Given the description of an element on the screen output the (x, y) to click on. 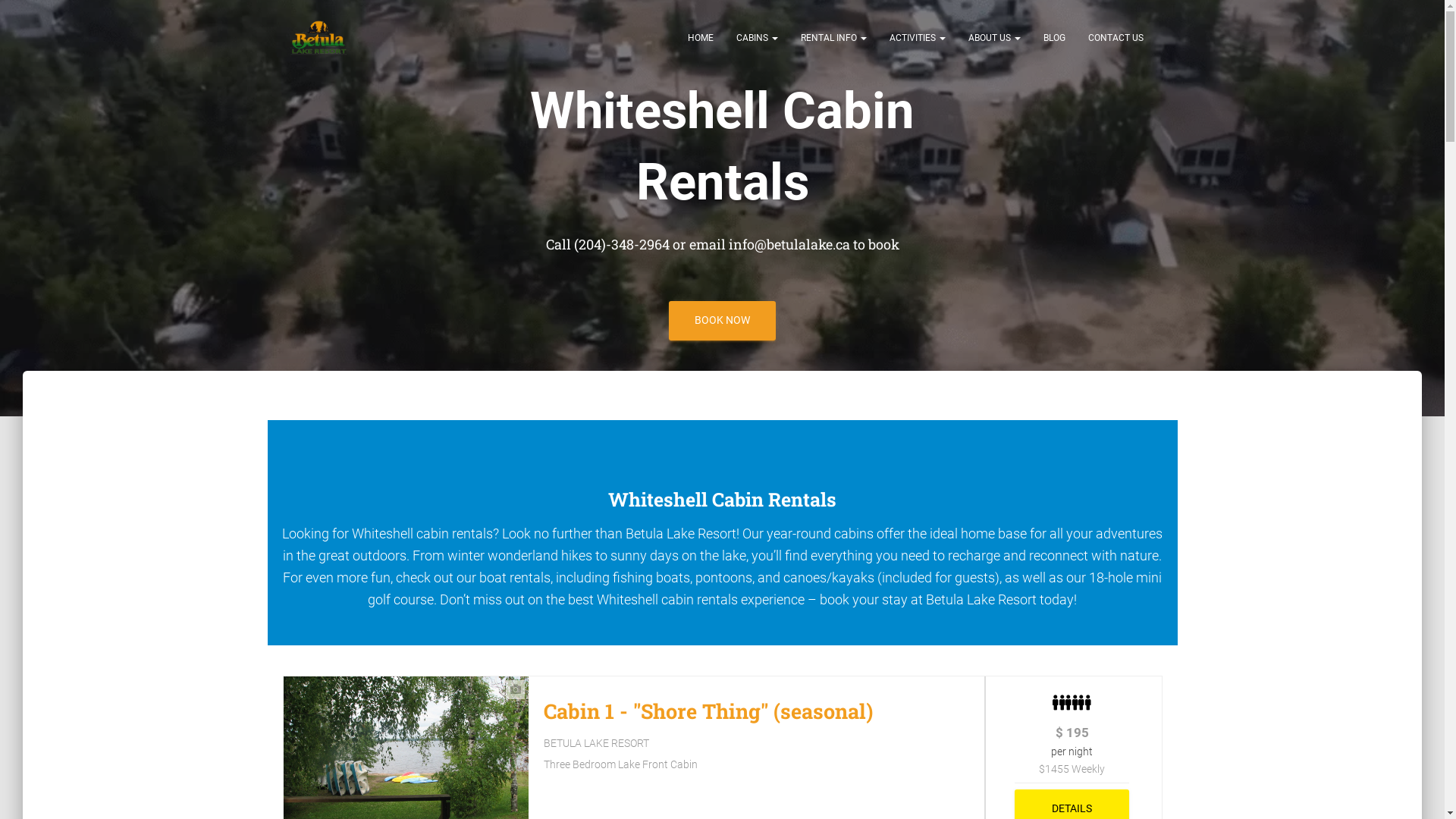
BLOG Element type: text (1053, 37)
HOME Element type: text (700, 37)
CONTACT US Element type: text (1115, 37)
BOOK NOW Element type: text (721, 320)
ABOUT US Element type: text (994, 37)
ACTIVITIES Element type: text (917, 37)
Cabin 1 - "Shore Thing" (seasonal) Element type: text (707, 710)
CABINS Element type: text (756, 37)
Betula Lake Resort Element type: hover (318, 37)
RENTAL INFO Element type: text (832, 37)
